Given the description of an element on the screen output the (x, y) to click on. 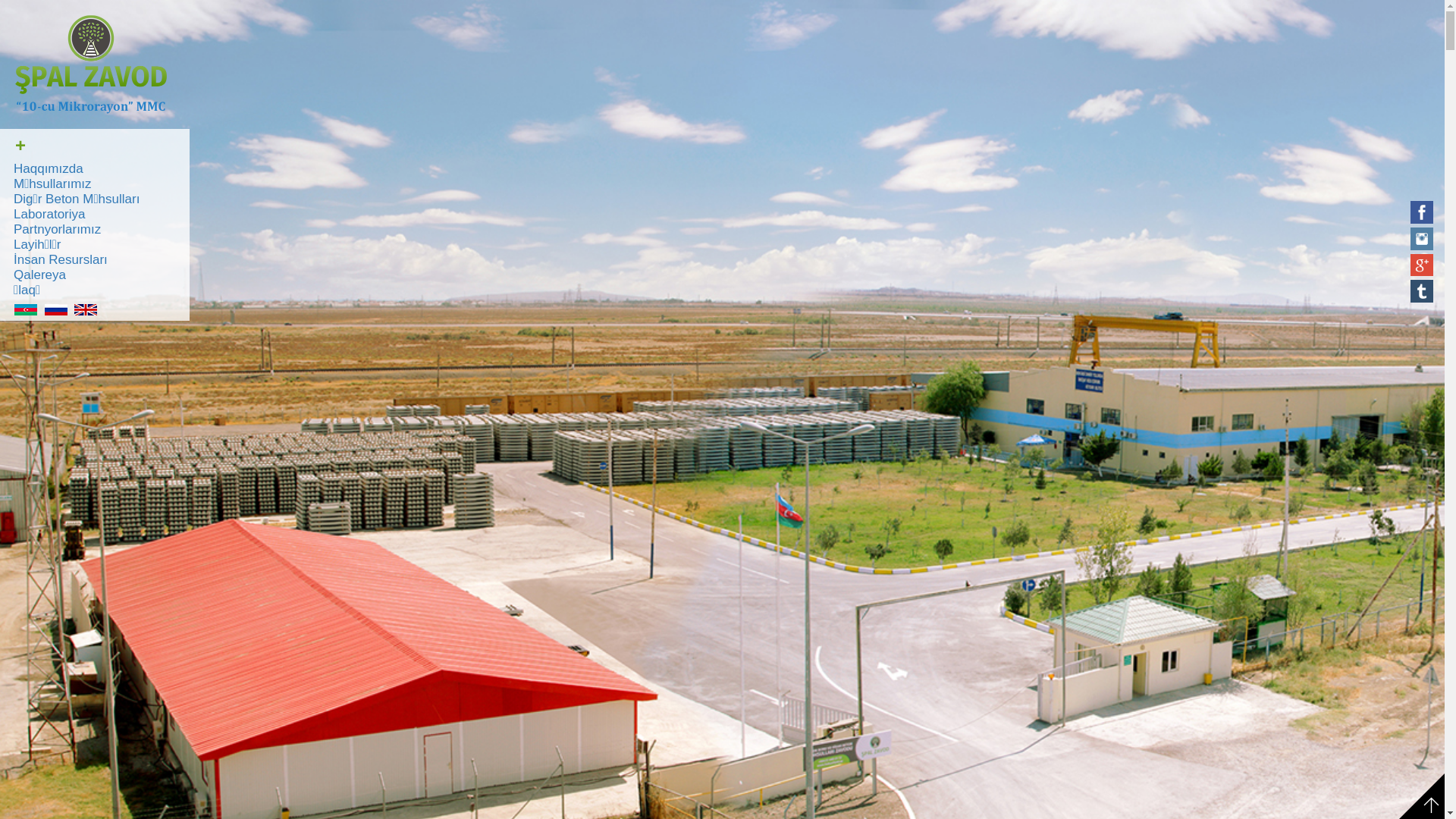
+ Element type: text (20, 144)
english Element type: hover (87, 309)
russian Element type: hover (57, 309)
Qalereya Element type: text (94, 274)
AZ Element type: hover (27, 309)
Laboratoriya Element type: text (94, 214)
